Given the description of an element on the screen output the (x, y) to click on. 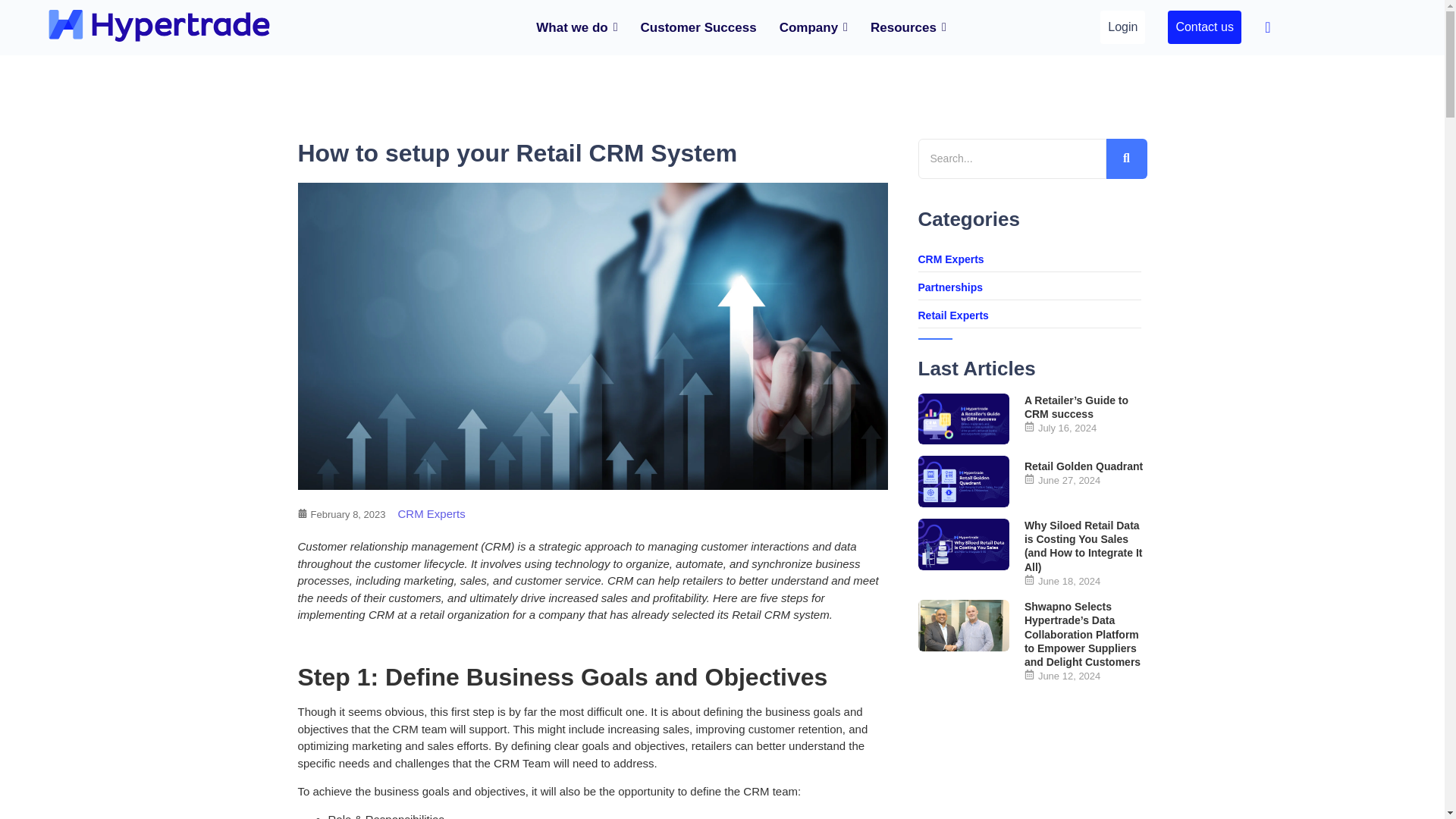
Resources (908, 27)
Customer Success (698, 27)
Search (1011, 158)
What we do (576, 27)
Company (812, 27)
